Given the description of an element on the screen output the (x, y) to click on. 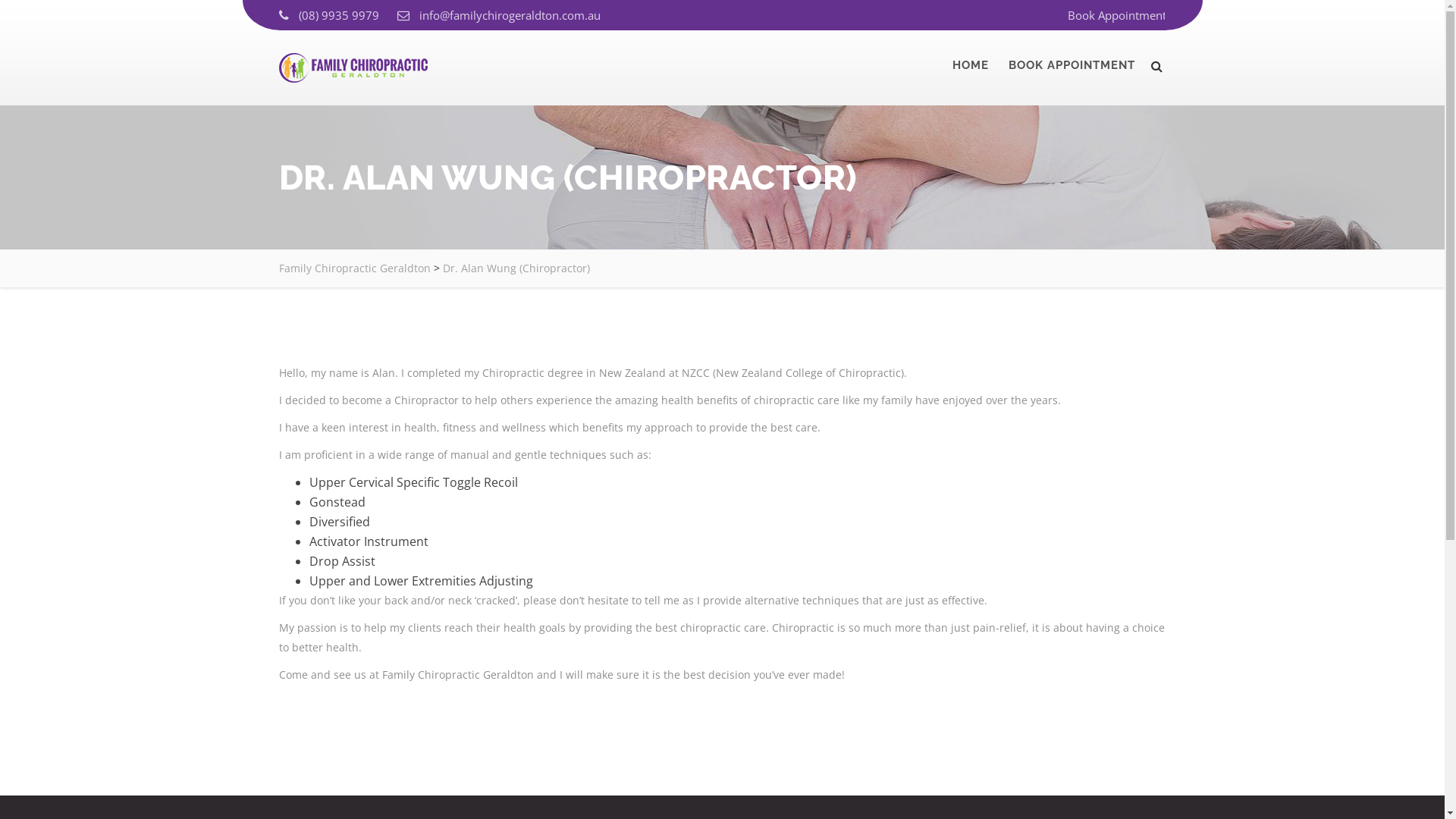
(08) 9935 9979 Element type: text (338, 14)
Family Chiropractic Geraldton Element type: text (354, 267)
HOME Element type: text (970, 65)
info@familychirogeraldton.com.au Element type: text (508, 14)
Book Appointment Element type: text (1116, 14)
BOOK APPOINTMENT Element type: text (1071, 65)
